Given the description of an element on the screen output the (x, y) to click on. 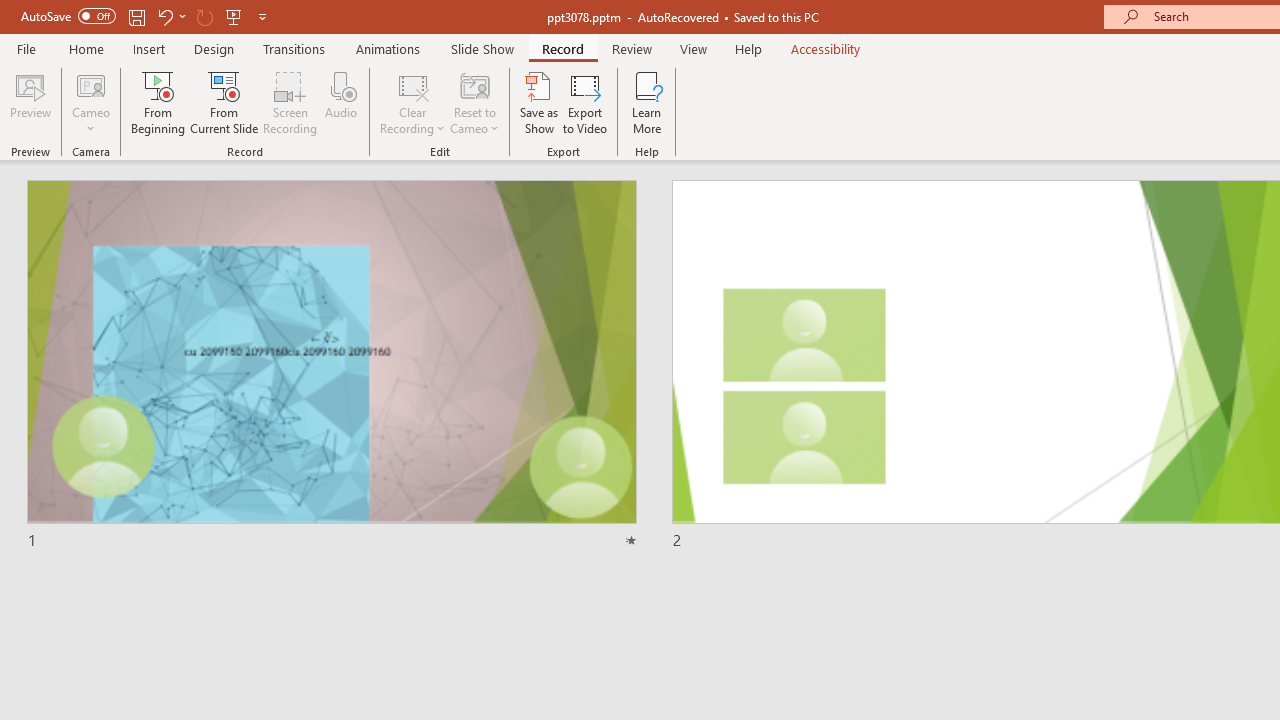
Cameo (91, 84)
Preview (30, 102)
From Current Slide... (224, 102)
